Given the description of an element on the screen output the (x, y) to click on. 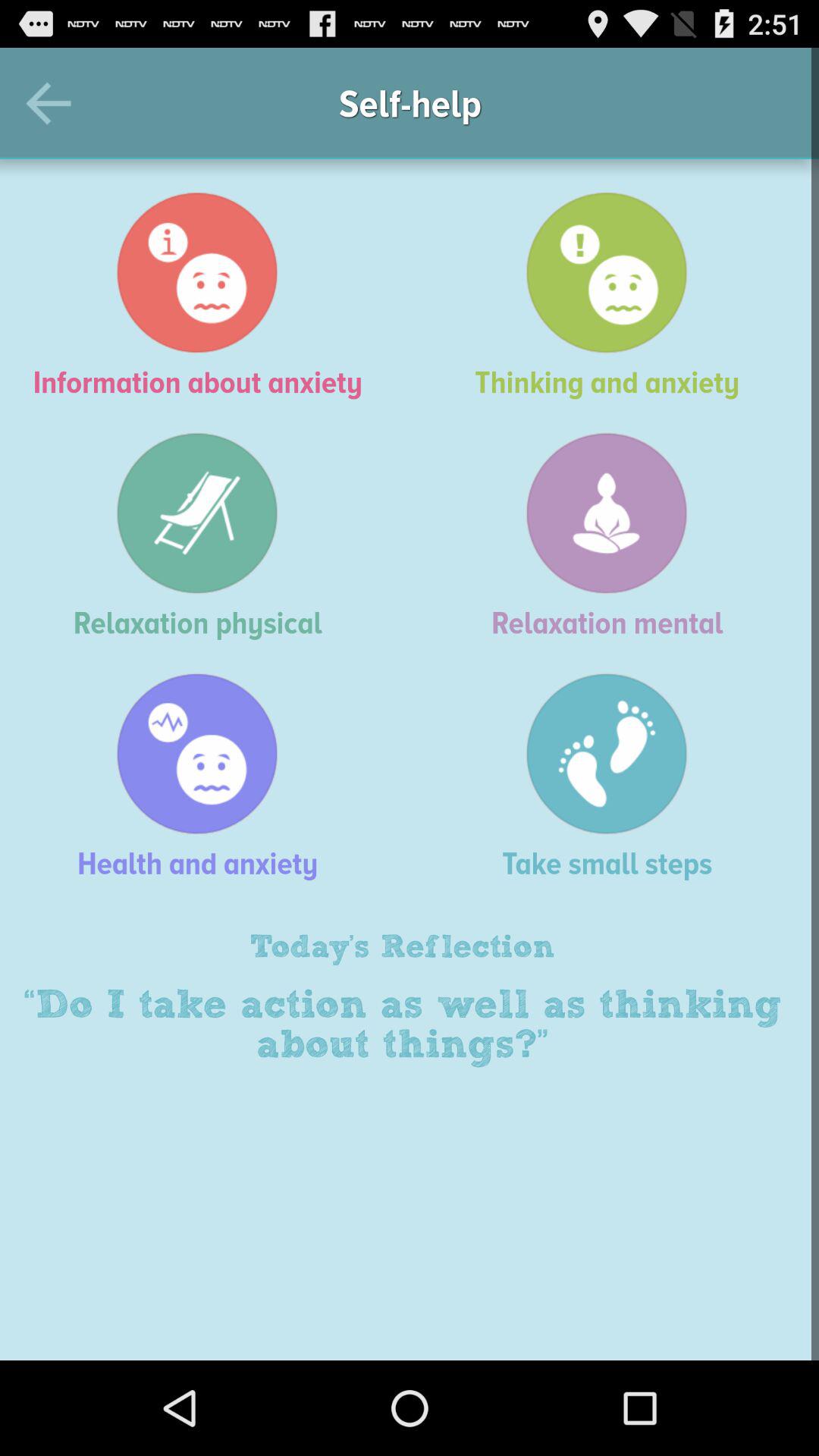
press the item above today's reflection (614, 776)
